Given the description of an element on the screen output the (x, y) to click on. 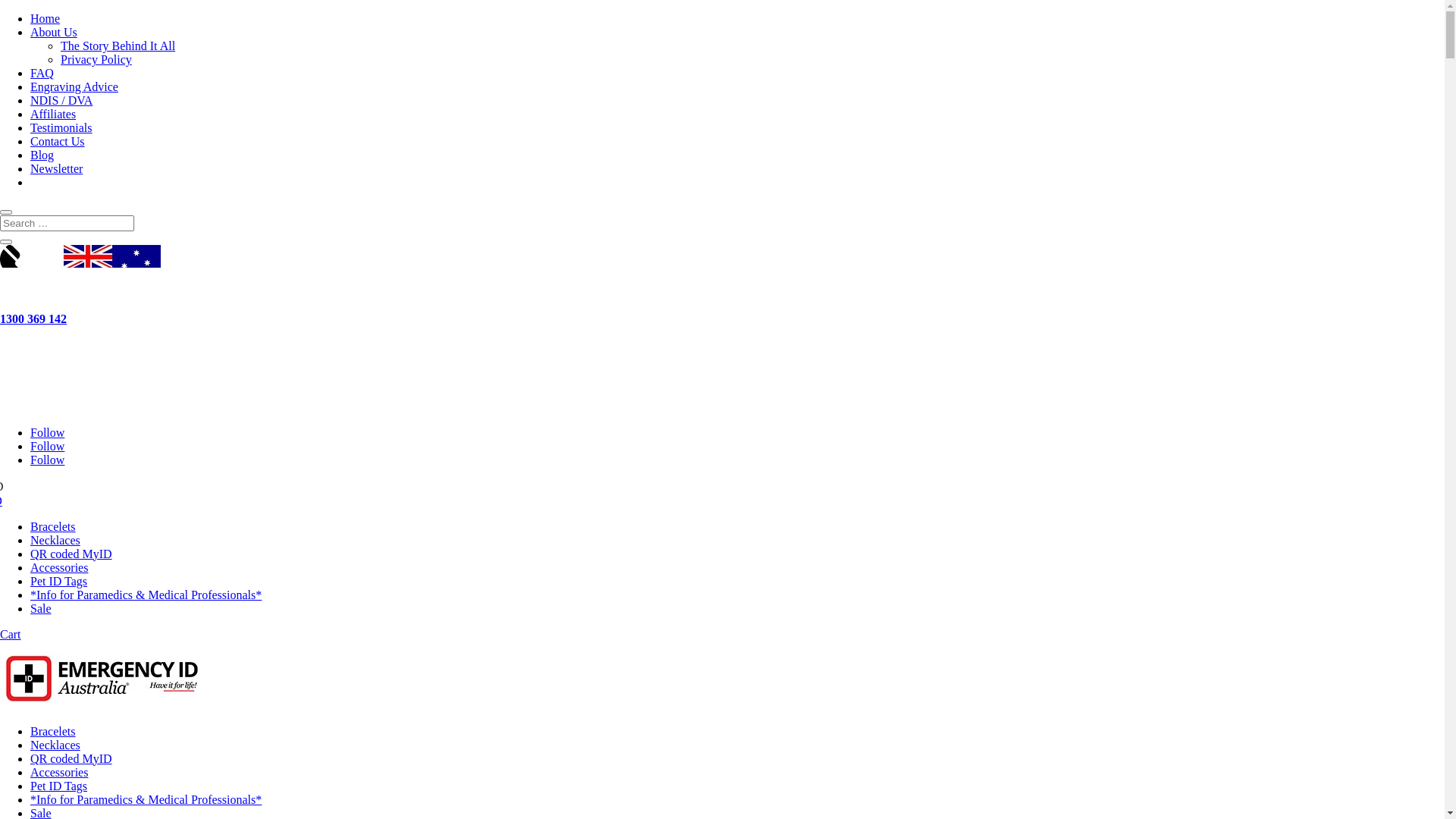
Pet ID Tags Element type: text (58, 785)
Cart Element type: text (10, 633)
Search for: Element type: hover (67, 223)
NZD Element type: text (1, 500)
Blog Element type: text (41, 154)
Engraving Advice Element type: text (74, 86)
Privacy Policy Element type: text (95, 59)
NDIS / DVA Element type: text (61, 100)
Follow Element type: text (47, 432)
QR coded MyID Element type: text (71, 553)
Newsletter Element type: text (56, 168)
The Story Behind It All Element type: text (117, 45)
AUD
NZD Element type: text (722, 493)
Accessories Element type: text (58, 771)
Home Element type: text (44, 18)
1300 369 142 Element type: text (33, 318)
Contact Us Element type: text (57, 140)
Accessories Element type: text (58, 567)
Testimonials Element type: text (61, 127)
QR coded MyID Element type: text (71, 758)
*Info for Paramedics & Medical Professionals* Element type: text (145, 594)
FAQ Element type: text (41, 72)
Affiliates Element type: text (52, 113)
Bracelets Element type: text (52, 730)
*Info for Paramedics & Medical Professionals* Element type: text (145, 799)
Pet ID Tags Element type: text (58, 580)
emergency id Logo Element type: hover (102, 376)
Bracelets Element type: text (52, 526)
Necklaces Element type: text (55, 539)
Necklaces Element type: text (55, 744)
Sale Element type: text (40, 608)
Follow Element type: text (47, 445)
Follow Element type: text (47, 459)
About Us Element type: text (53, 31)
